Given the description of an element on the screen output the (x, y) to click on. 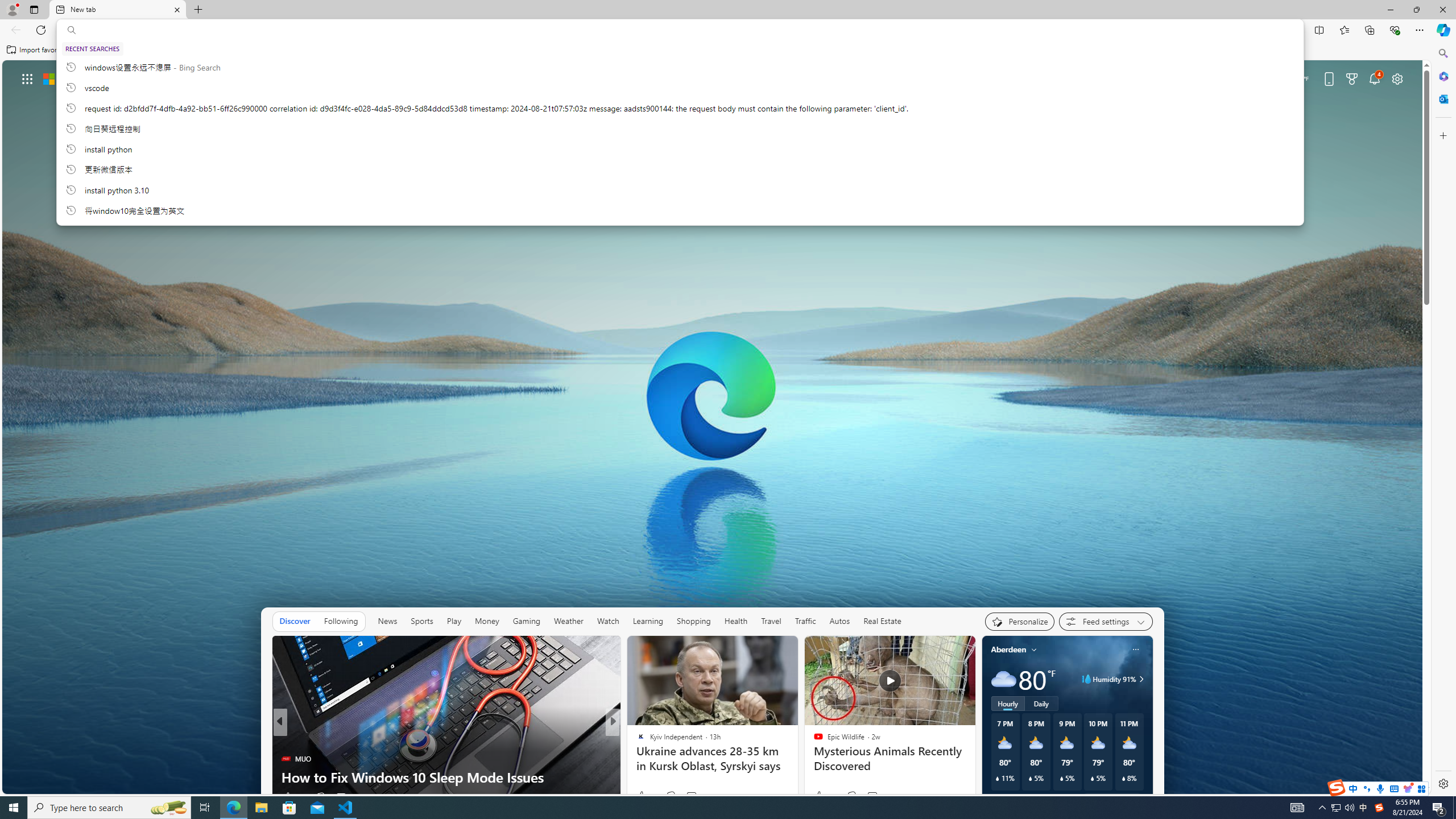
View comments 65 Comment (696, 796)
Aberdeen (1008, 649)
View comments 11 Comment (691, 797)
Click to sign into Microsoft Edge (1198, 79)
12 Like (642, 796)
Play (453, 621)
